Given the description of an element on the screen output the (x, y) to click on. 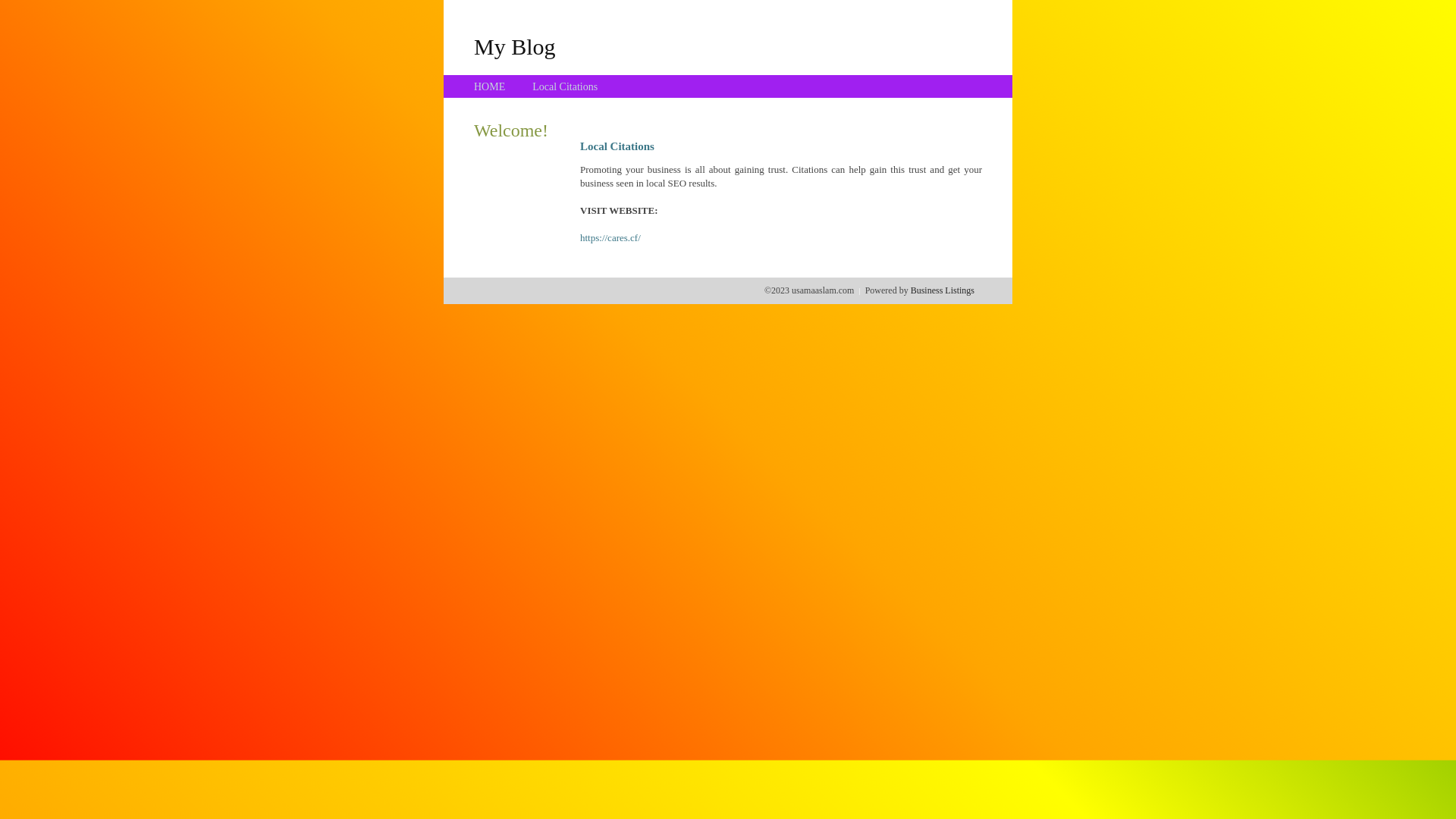
My Blog Element type: text (514, 46)
Business Listings Element type: text (942, 290)
Local Citations Element type: text (564, 86)
https://cares.cf/ Element type: text (610, 237)
HOME Element type: text (489, 86)
